Given the description of an element on the screen output the (x, y) to click on. 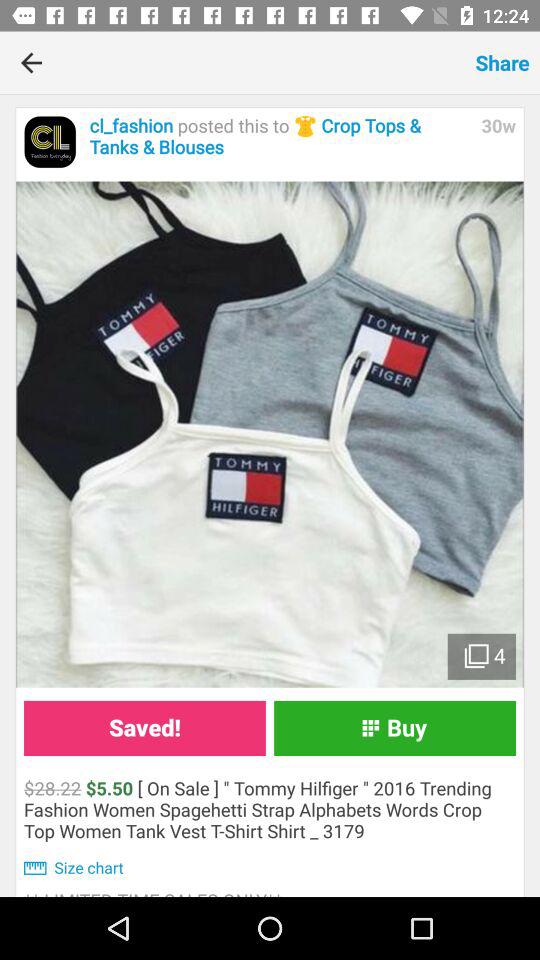
forward to home page (50, 141)
